Given the description of an element on the screen output the (x, y) to click on. 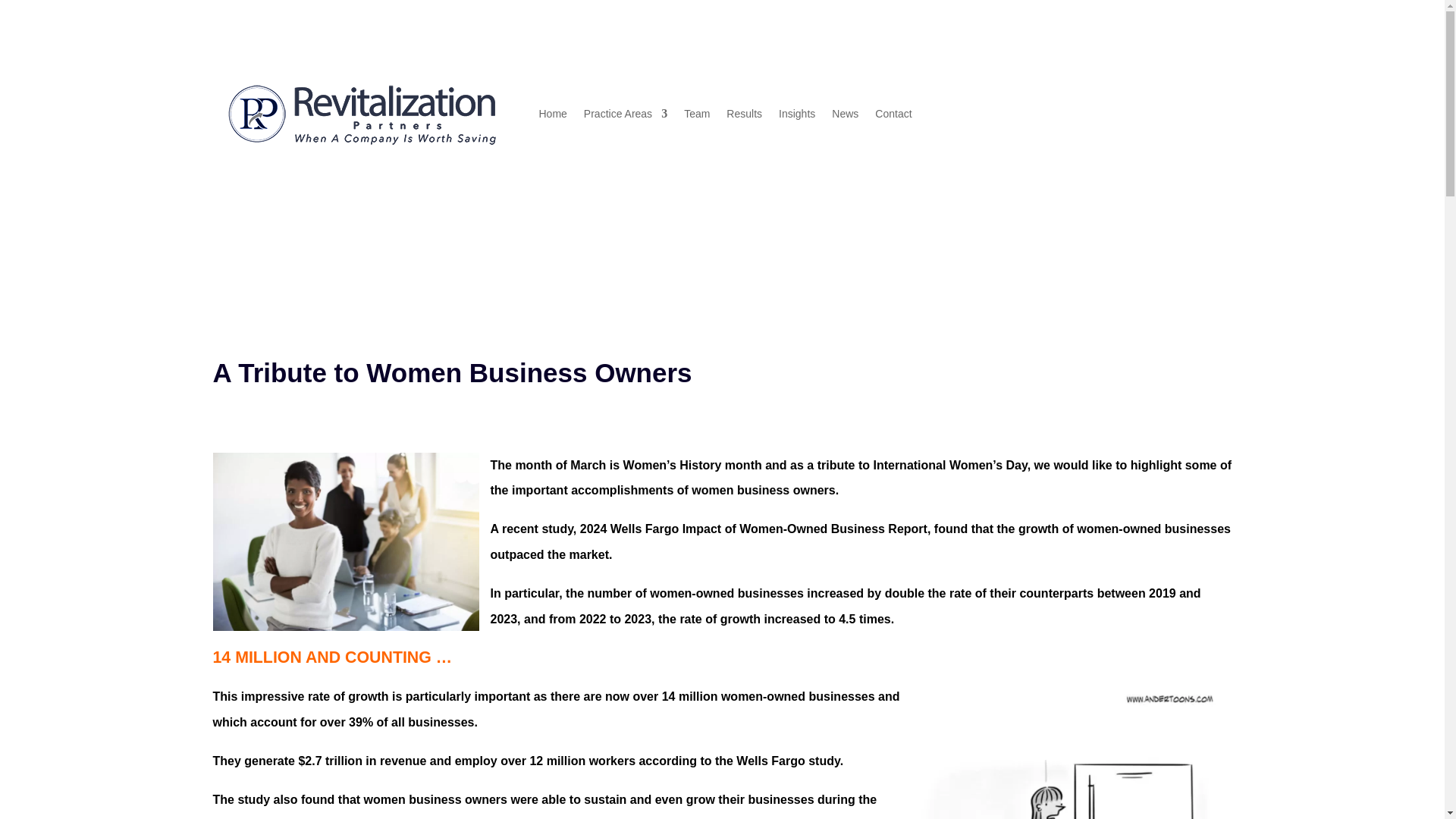
Practice Areas (624, 113)
